Given the description of an element on the screen output the (x, y) to click on. 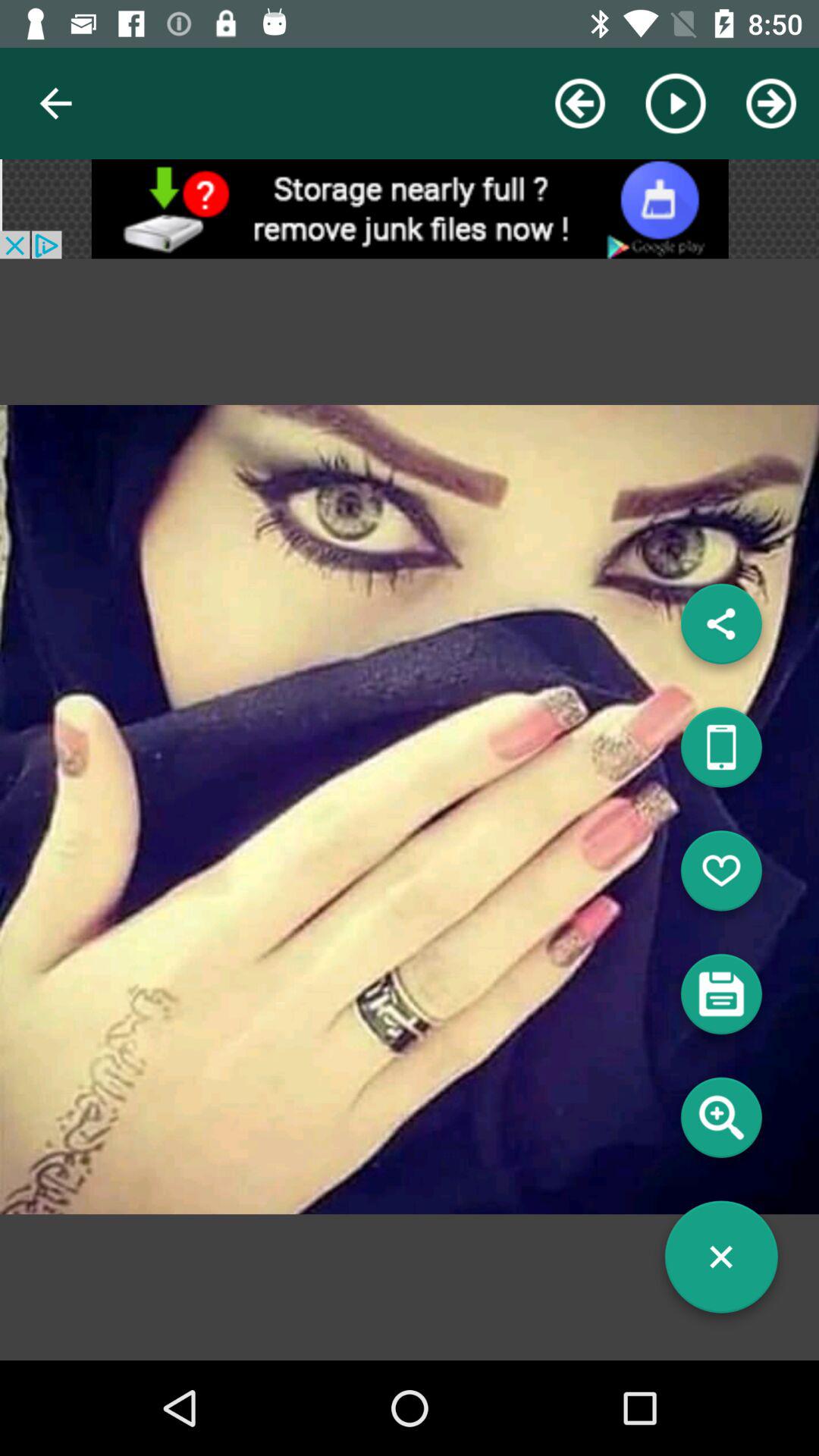
inbox (721, 999)
